Given the description of an element on the screen output the (x, y) to click on. 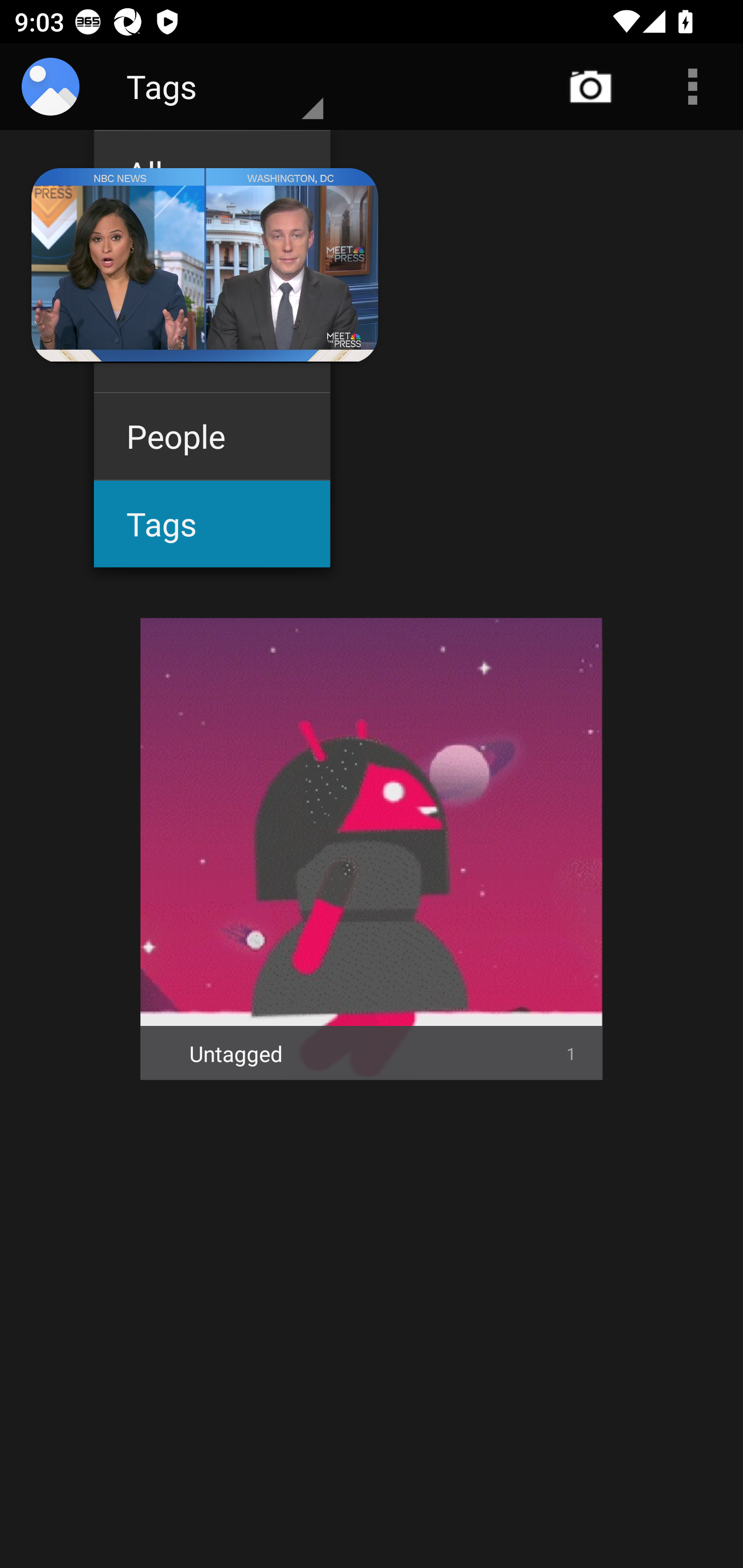
People (211, 436)
Tags (211, 524)
